Given the description of an element on the screen output the (x, y) to click on. 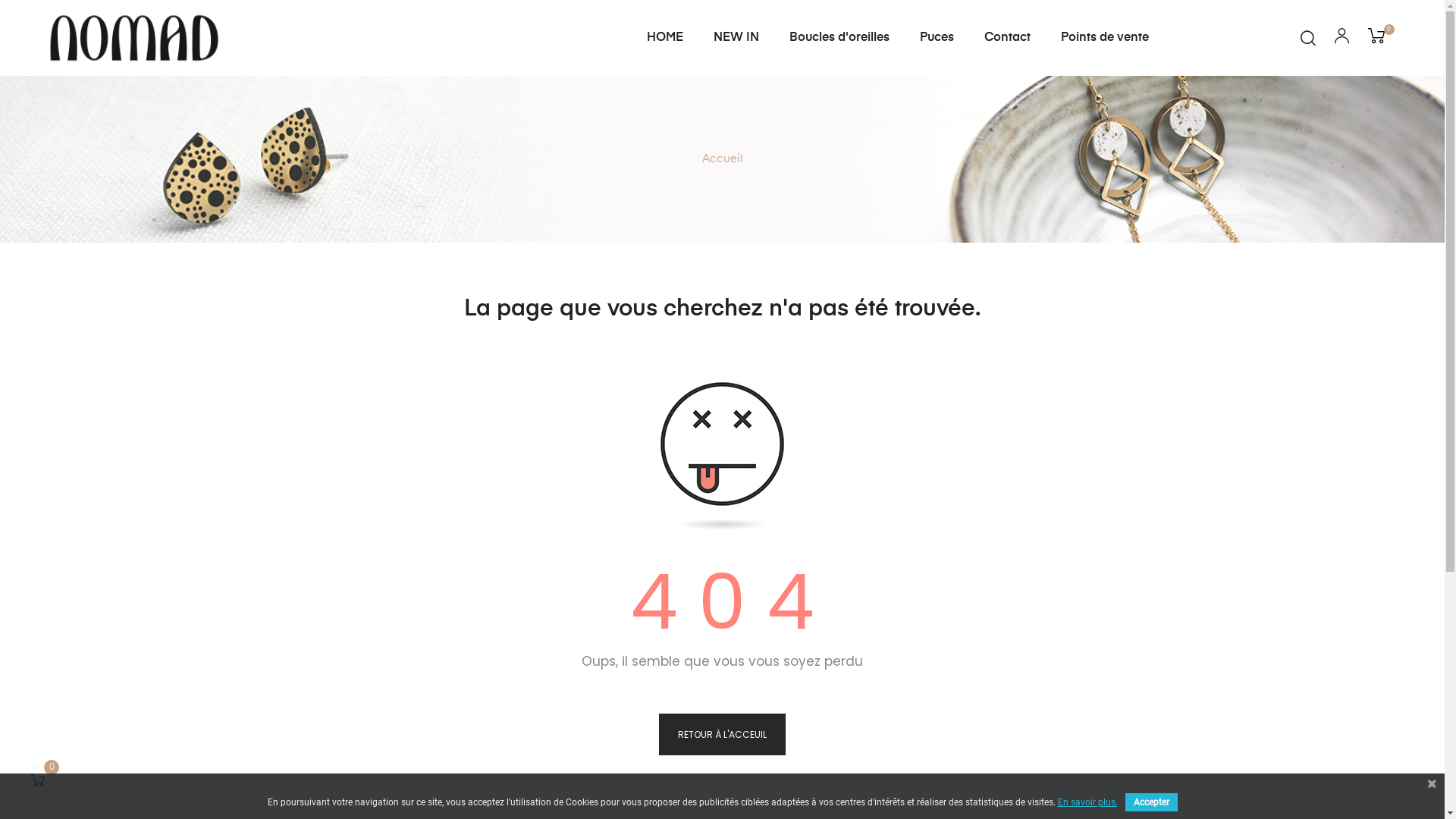
En savoir plus. Element type: text (1087, 801)
Points de vente Element type: text (1104, 37)
Puces Element type: text (936, 37)
HOME Element type: text (664, 37)
Boucles d'oreilles Element type: text (839, 37)
NEW IN Element type: text (736, 37)
Accepter Element type: text (1151, 802)
Accueil Element type: text (722, 158)
Contact Element type: text (1007, 37)
